Given the description of an element on the screen output the (x, y) to click on. 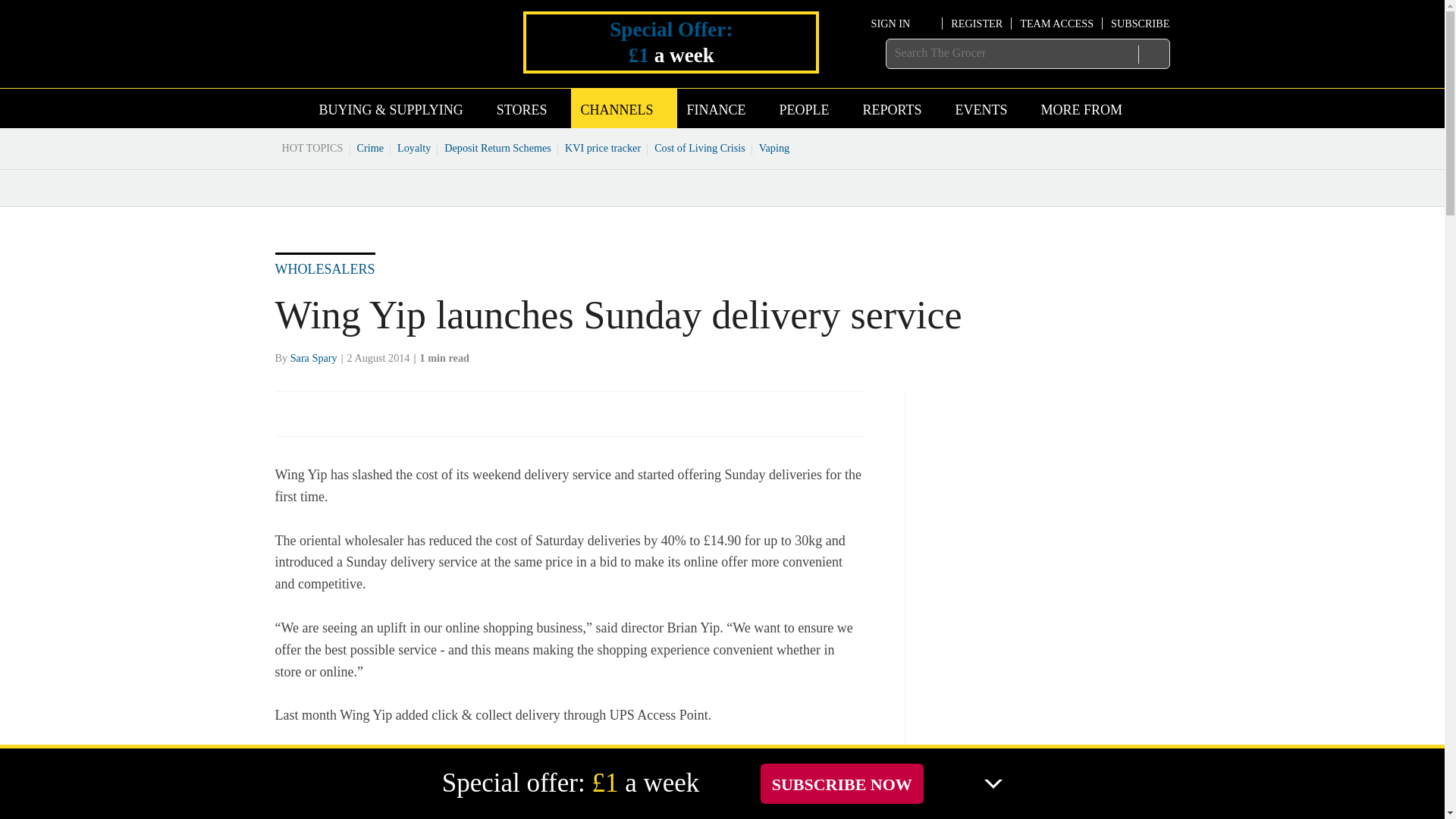
Deposit Return Schemes (497, 147)
Share this on Twitter (320, 412)
KVI price tracker (602, 147)
Cost of Living Crisis (699, 147)
SUBSCRIBE NOW (841, 783)
Email this article (386, 412)
Loyalty (414, 147)
SEARCH (1153, 53)
Share this on Facebook (288, 412)
Share this on Linked in (352, 412)
TEAM ACCESS (1056, 23)
SUBSCRIBE (1139, 23)
No comments (840, 421)
SIGN IN (902, 23)
Vaping (774, 147)
